Given the description of an element on the screen output the (x, y) to click on. 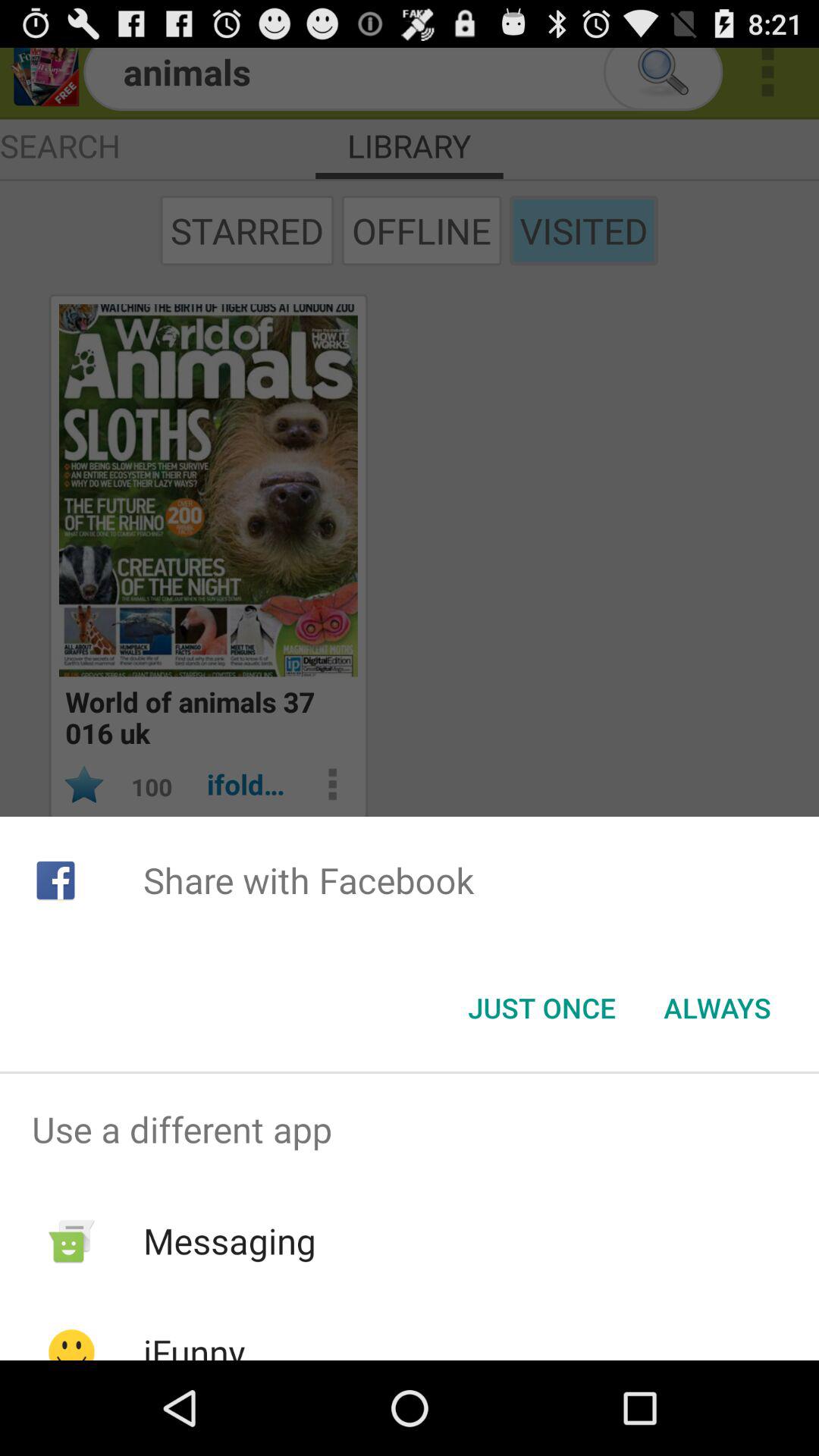
open ifunny app (194, 1344)
